Given the description of an element on the screen output the (x, y) to click on. 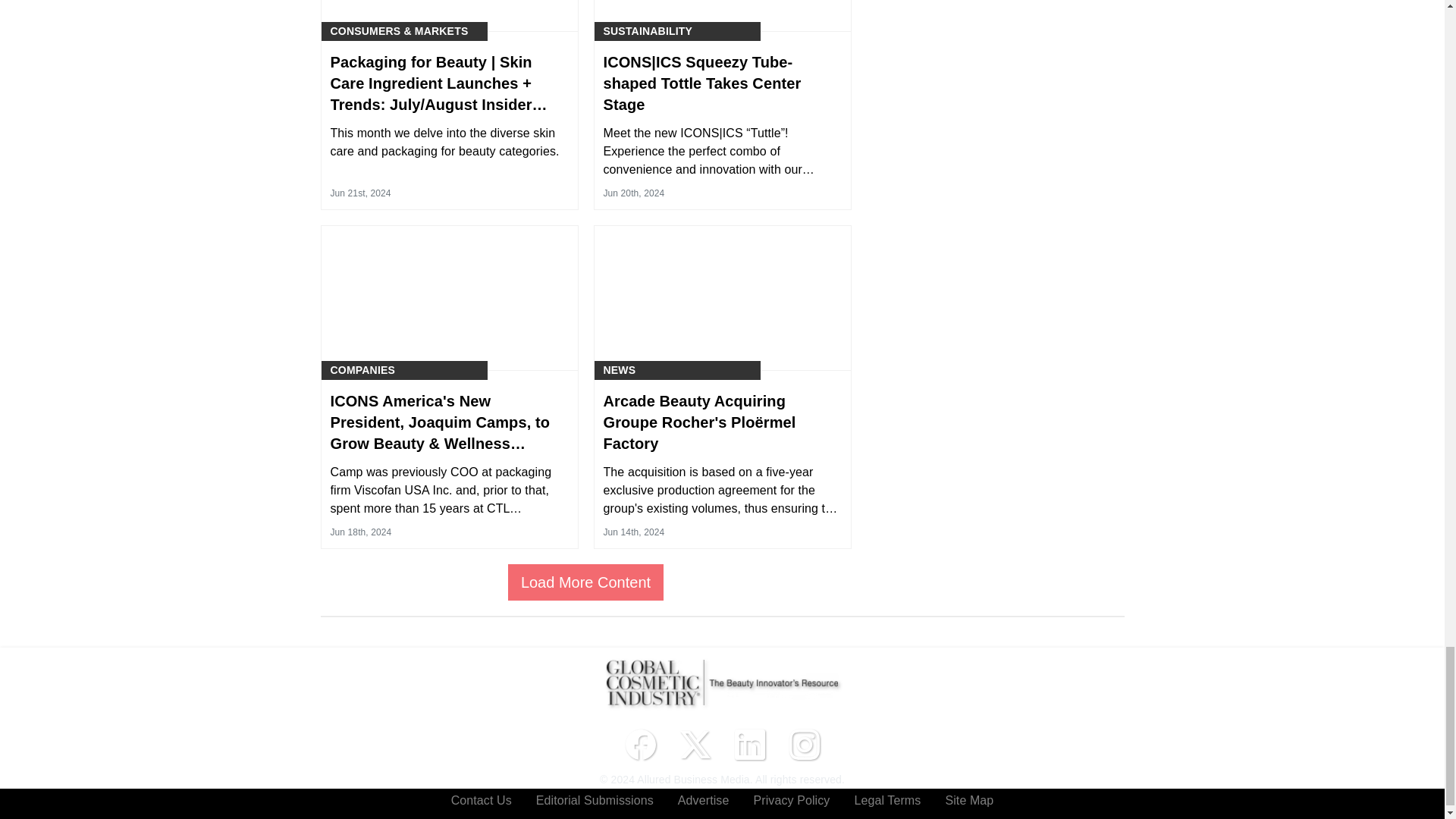
Facebook icon (639, 744)
Instagram icon (803, 744)
LinkedIn icon (748, 744)
Twitter X icon (694, 744)
